Given the description of an element on the screen output the (x, y) to click on. 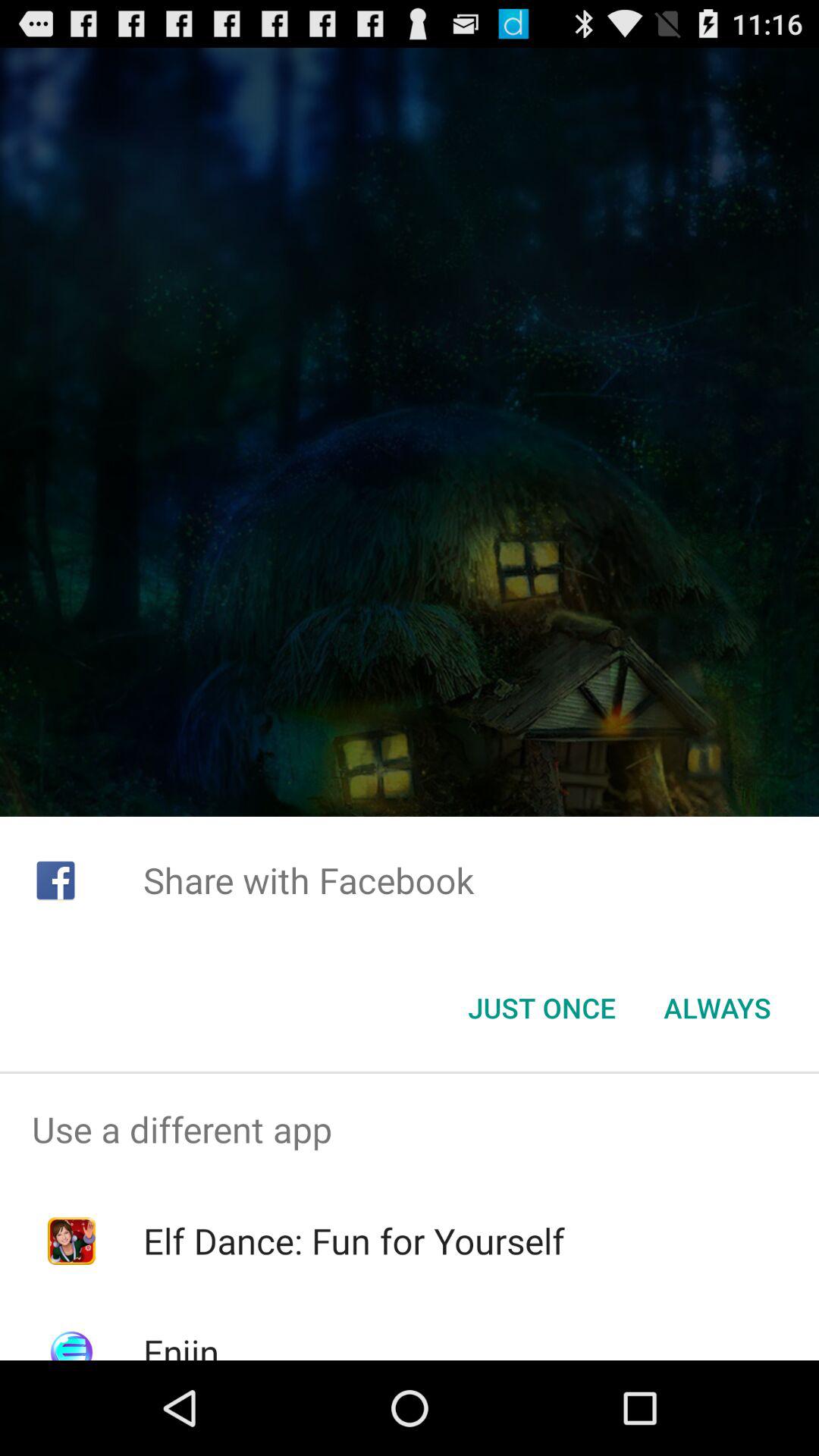
click button next to always item (541, 1007)
